Given the description of an element on the screen output the (x, y) to click on. 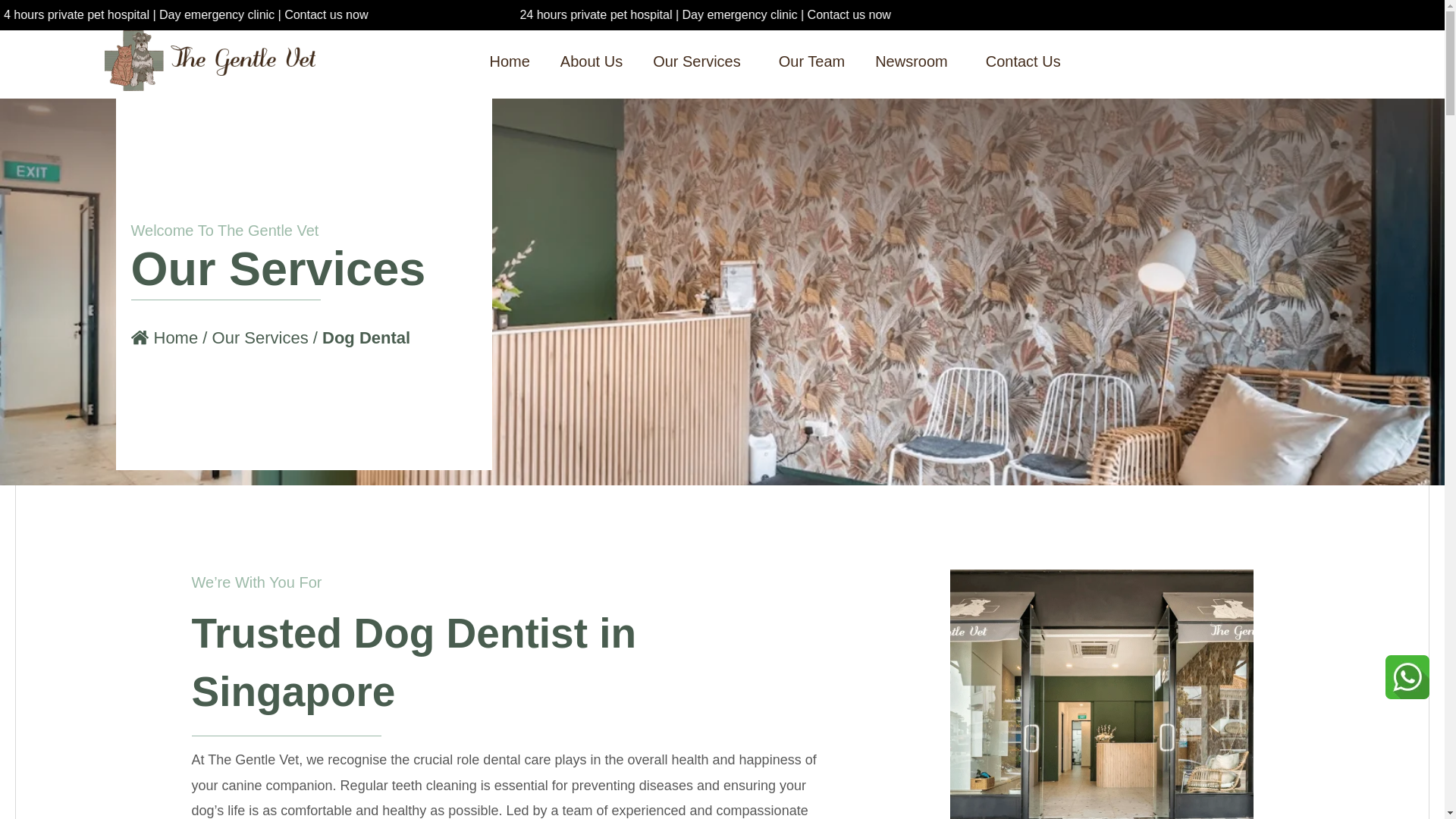
Our Services (699, 61)
Home (509, 61)
Contact Us (1023, 61)
About Us (590, 61)
Newsroom (915, 61)
Our Team (811, 61)
